Given the description of an element on the screen output the (x, y) to click on. 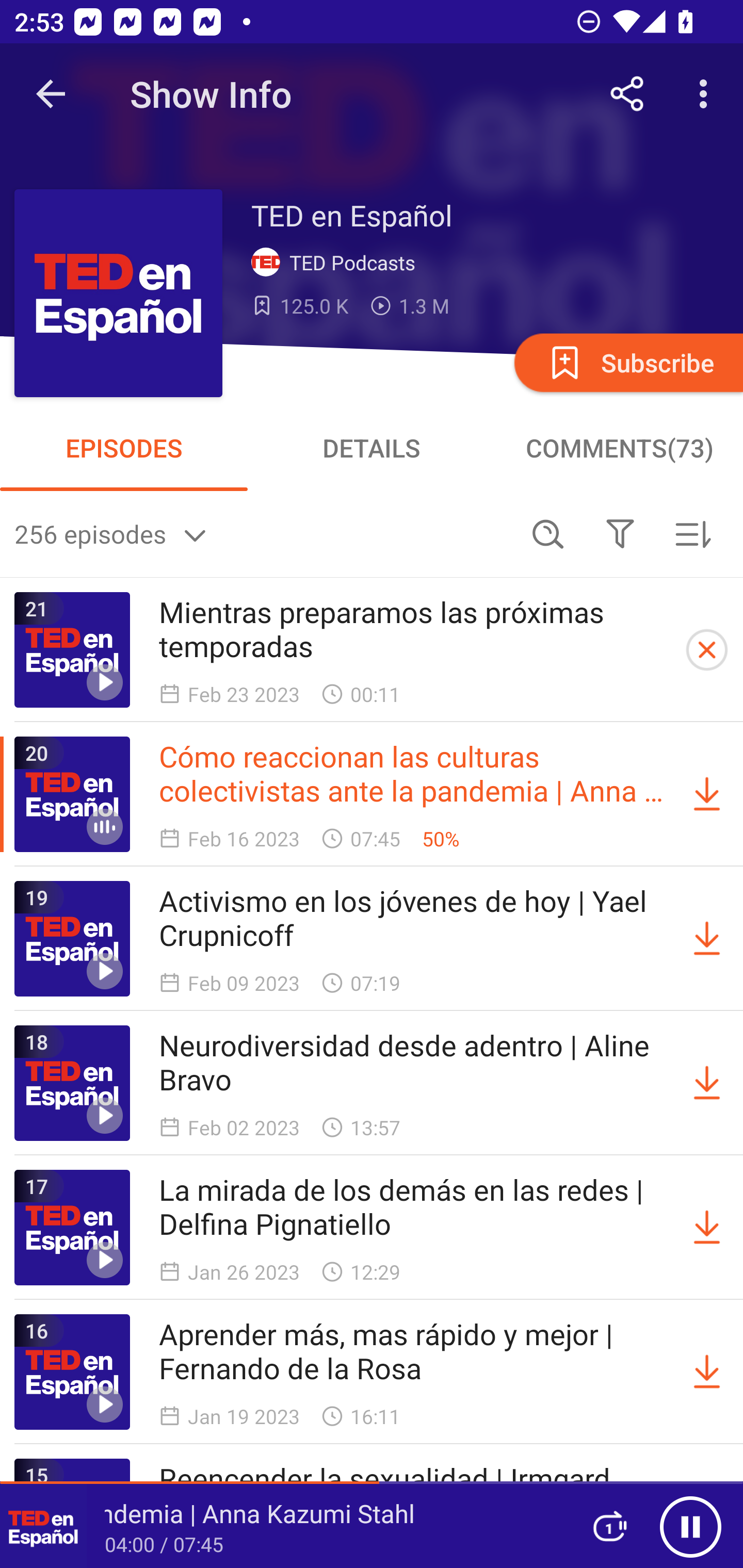
Navigate up (50, 93)
Share (626, 93)
More options (706, 93)
TED Podcasts (337, 262)
Subscribe (627, 361)
EPISODES (123, 447)
DETAILS (371, 447)
COMMENTS(73) (619, 447)
256 episodes  (262, 533)
 Search (547, 533)
 (619, 533)
 Sorted by newest first (692, 533)
Cancel Downloading (706, 649)
Download (706, 793)
Download (706, 939)
Download (706, 1083)
Download (706, 1227)
Download (706, 1371)
Pause (690, 1526)
